Given the description of an element on the screen output the (x, y) to click on. 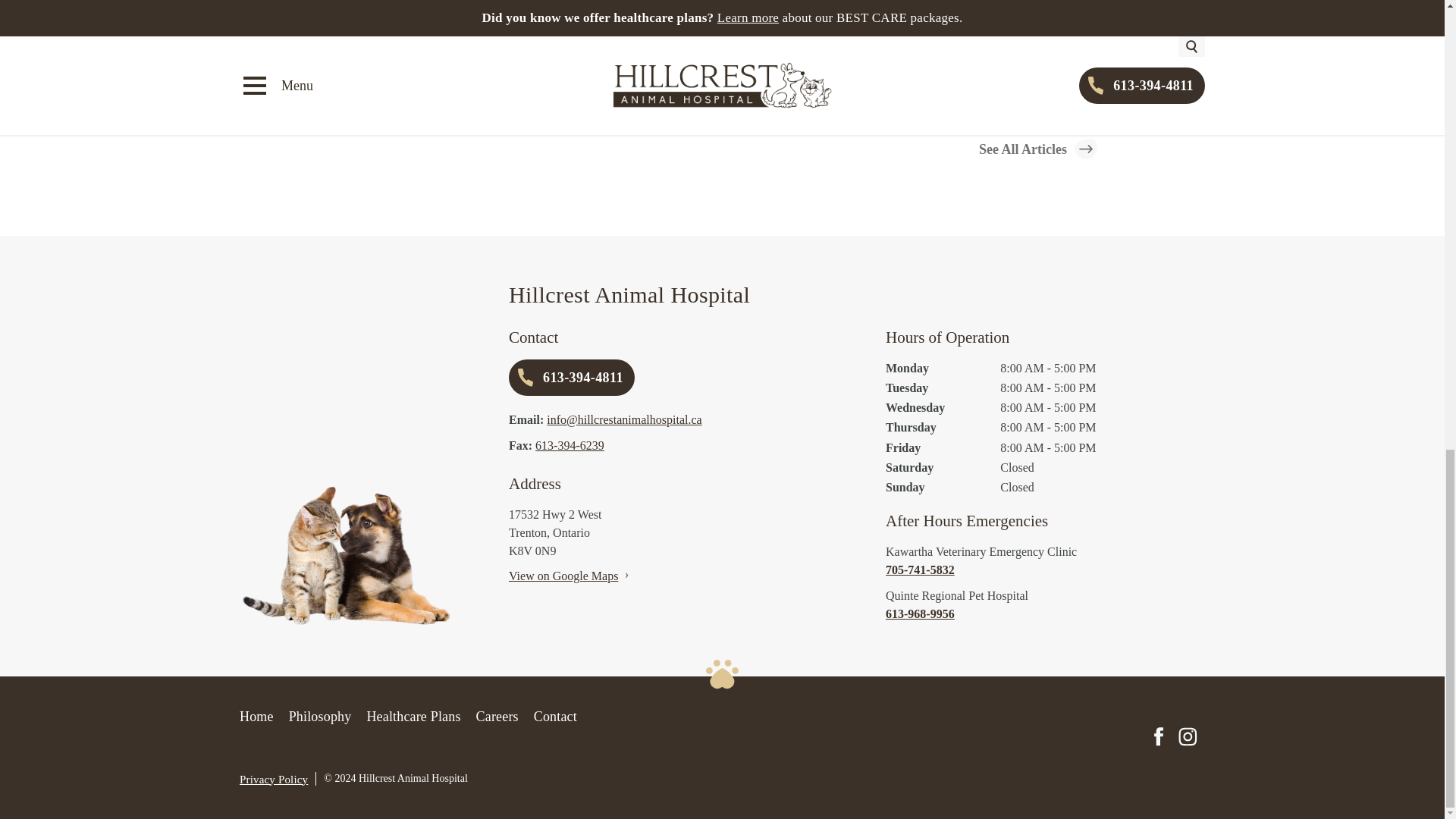
613-394-6239 (569, 445)
613-394-4811 (571, 377)
See All Articles (1037, 148)
705-741-5832 (1045, 570)
View on Google Maps (562, 575)
